Given the description of an element on the screen output the (x, y) to click on. 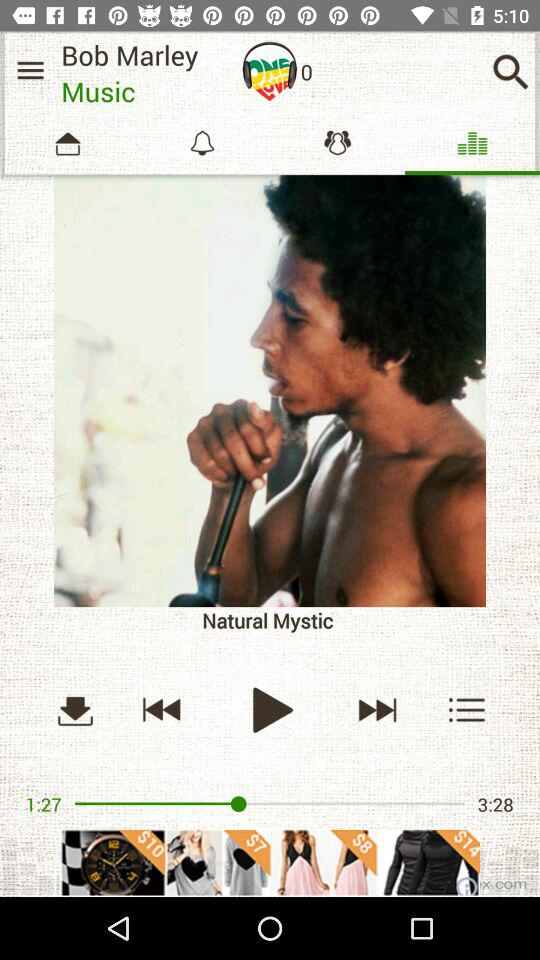
album cover (270, 391)
